Given the description of an element on the screen output the (x, y) to click on. 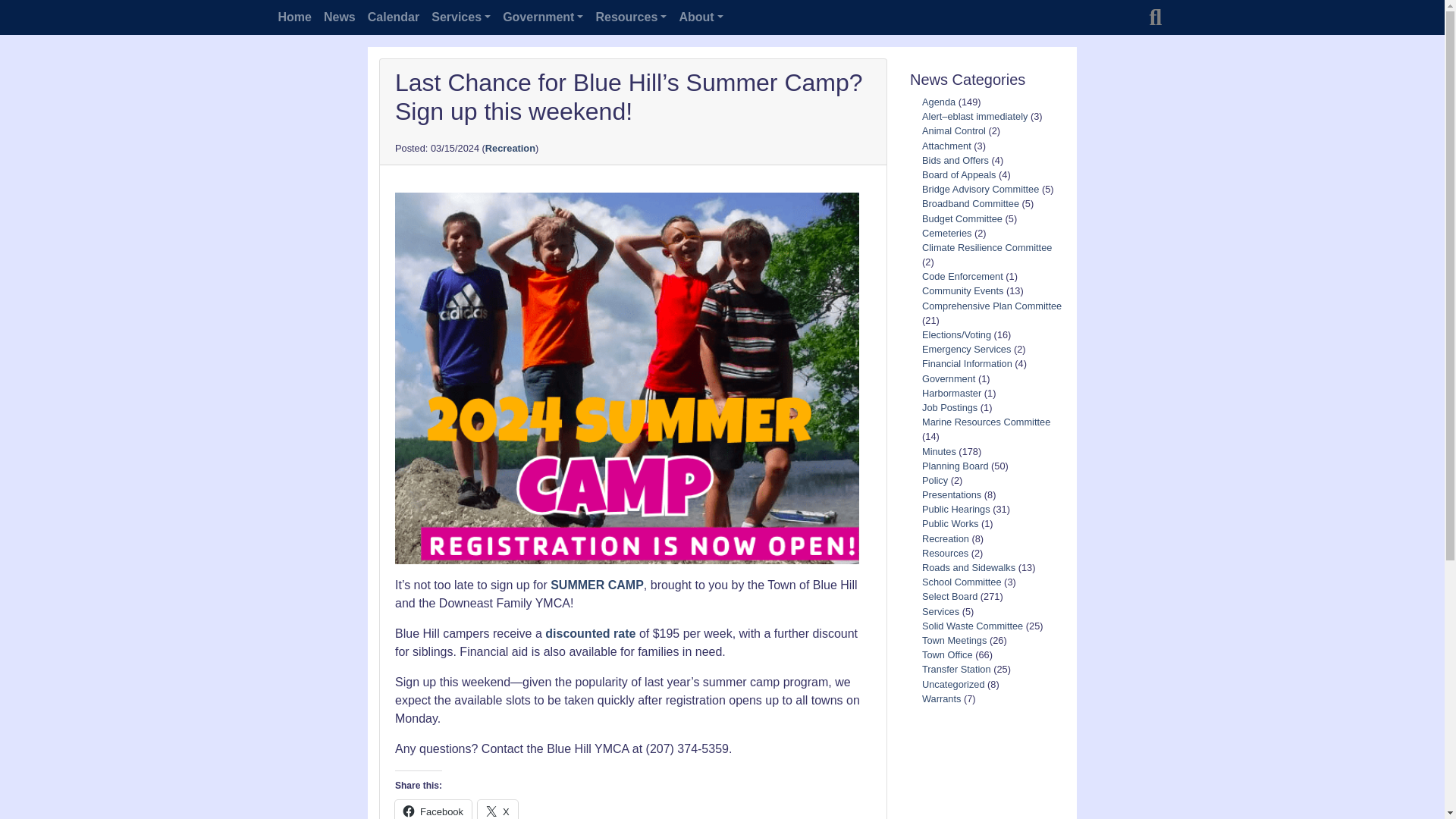
Calendar (393, 17)
News (339, 17)
Click to share on X (497, 809)
Home (293, 17)
Services (460, 17)
Resources (630, 17)
Click to share on Facebook (432, 809)
Government (542, 17)
